Given the description of an element on the screen output the (x, y) to click on. 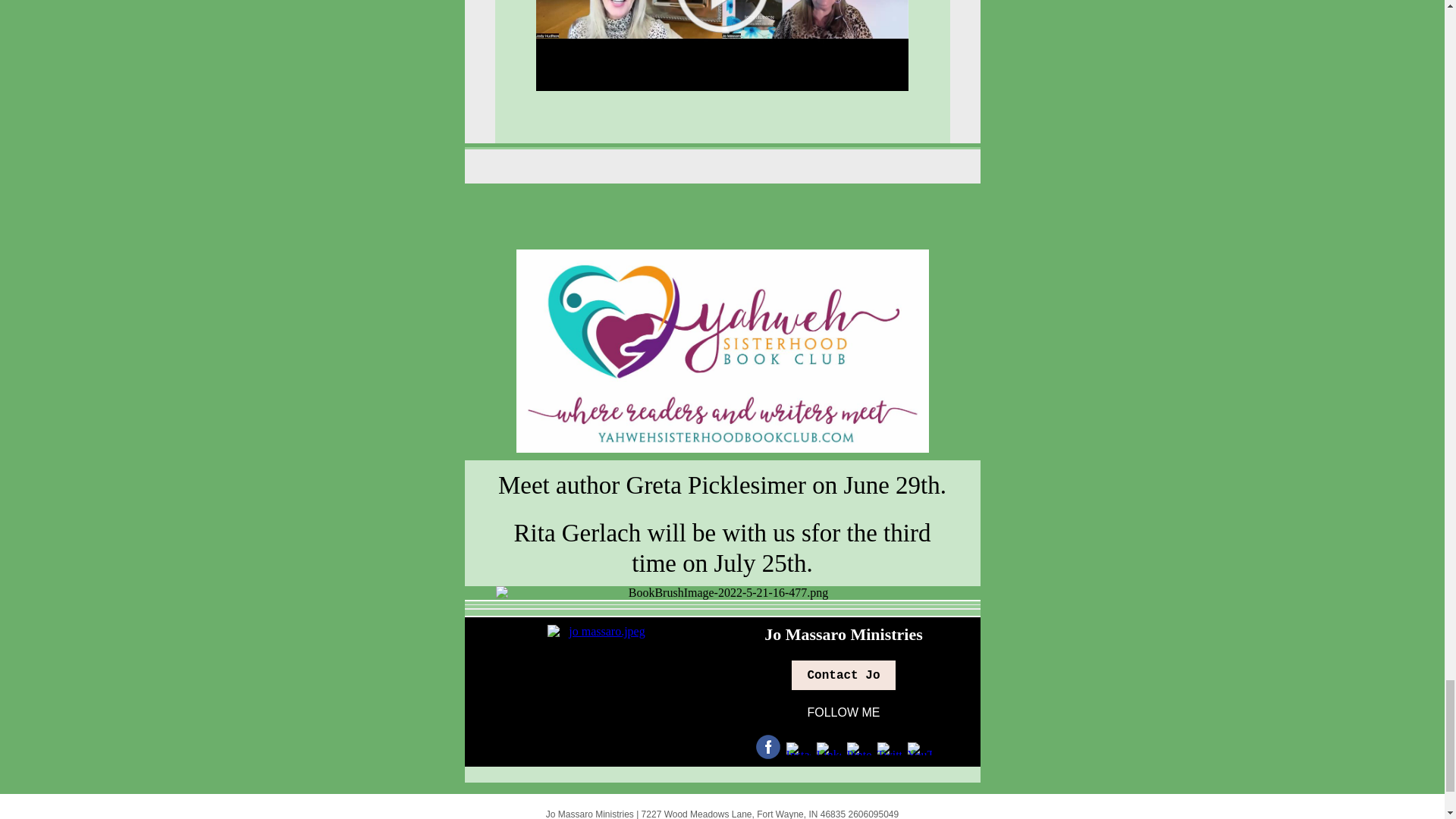
Contact Jo (842, 675)
Jo Massaro Ministries (843, 633)
